Given the description of an element on the screen output the (x, y) to click on. 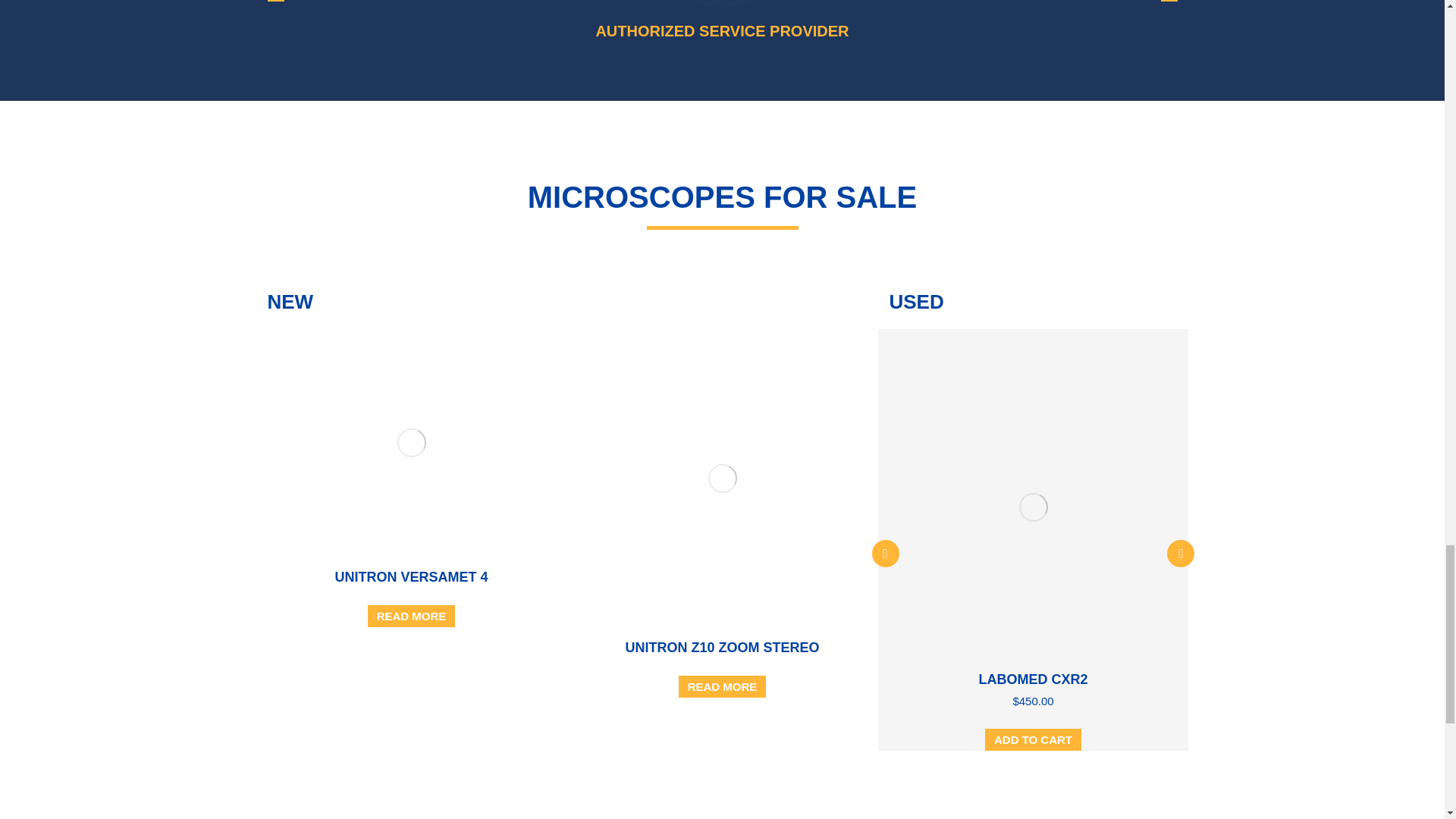
Unitron Z10 Zoom Stereo (721, 647)
Unitron Versamet 4 (410, 576)
Labomed CXR2 (1032, 679)
